Given the description of an element on the screen output the (x, y) to click on. 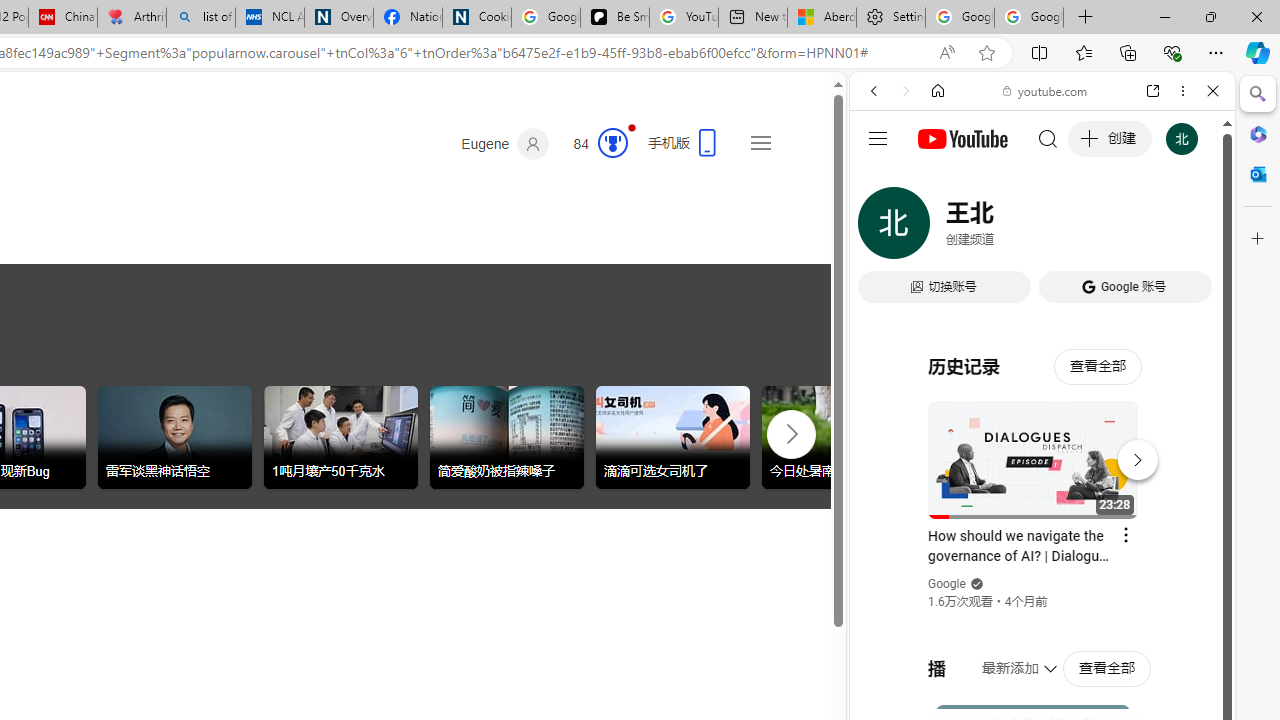
Settings and quick links (760, 142)
Search Filter, VIDEOS (1006, 228)
list of asthma inhalers uk - Search (200, 17)
SEARCH TOOLS (1093, 228)
This site scope (936, 180)
WEB   (882, 228)
Search Filter, WEB (882, 228)
Google (1042, 494)
Open link in new tab (1153, 91)
Aberdeen, Hong Kong SAR hourly forecast | Microsoft Weather (822, 17)
youtube.com (1046, 90)
